Given the description of an element on the screen output the (x, y) to click on. 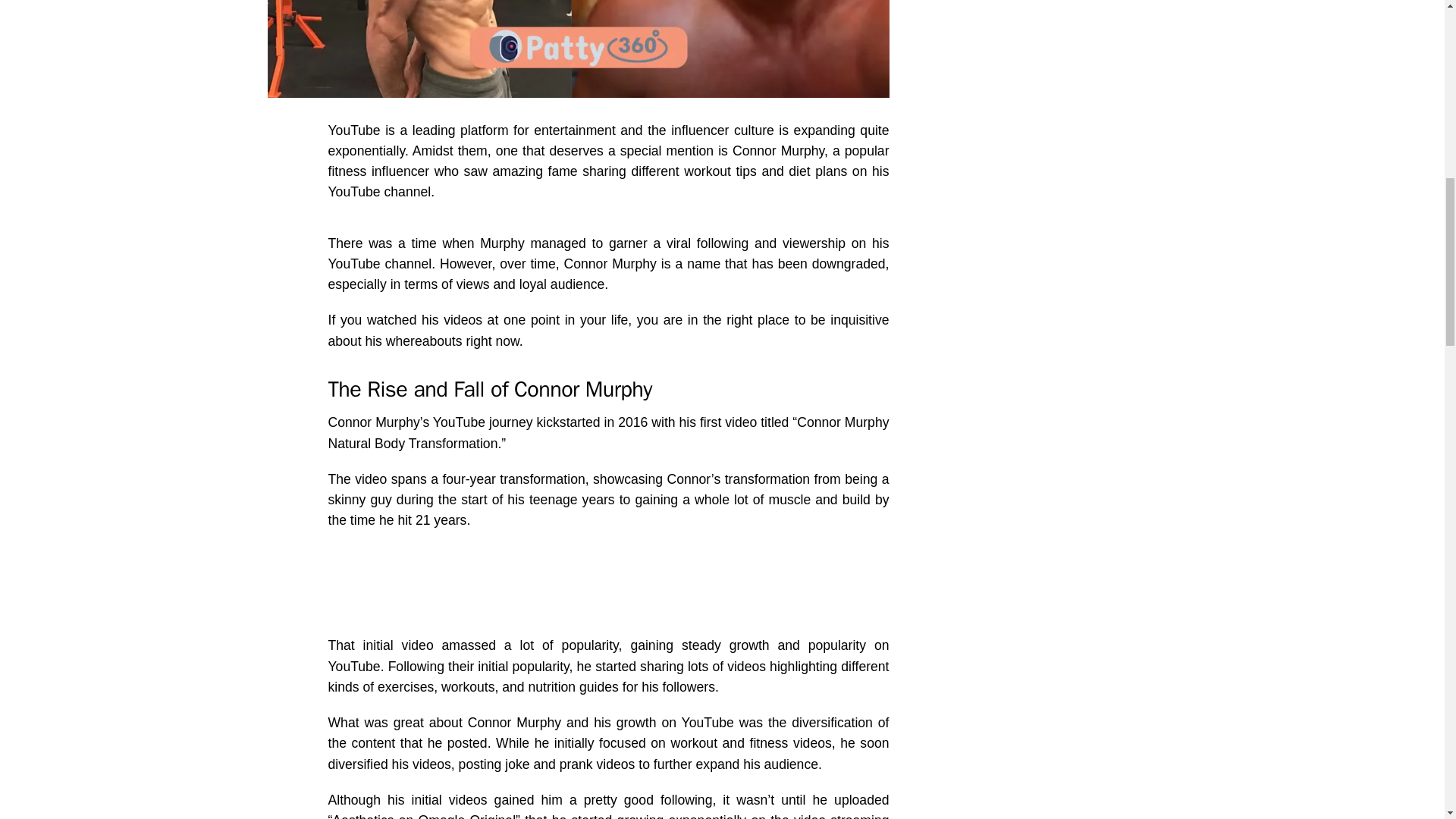
Advertisement (608, 588)
